Given the description of an element on the screen output the (x, y) to click on. 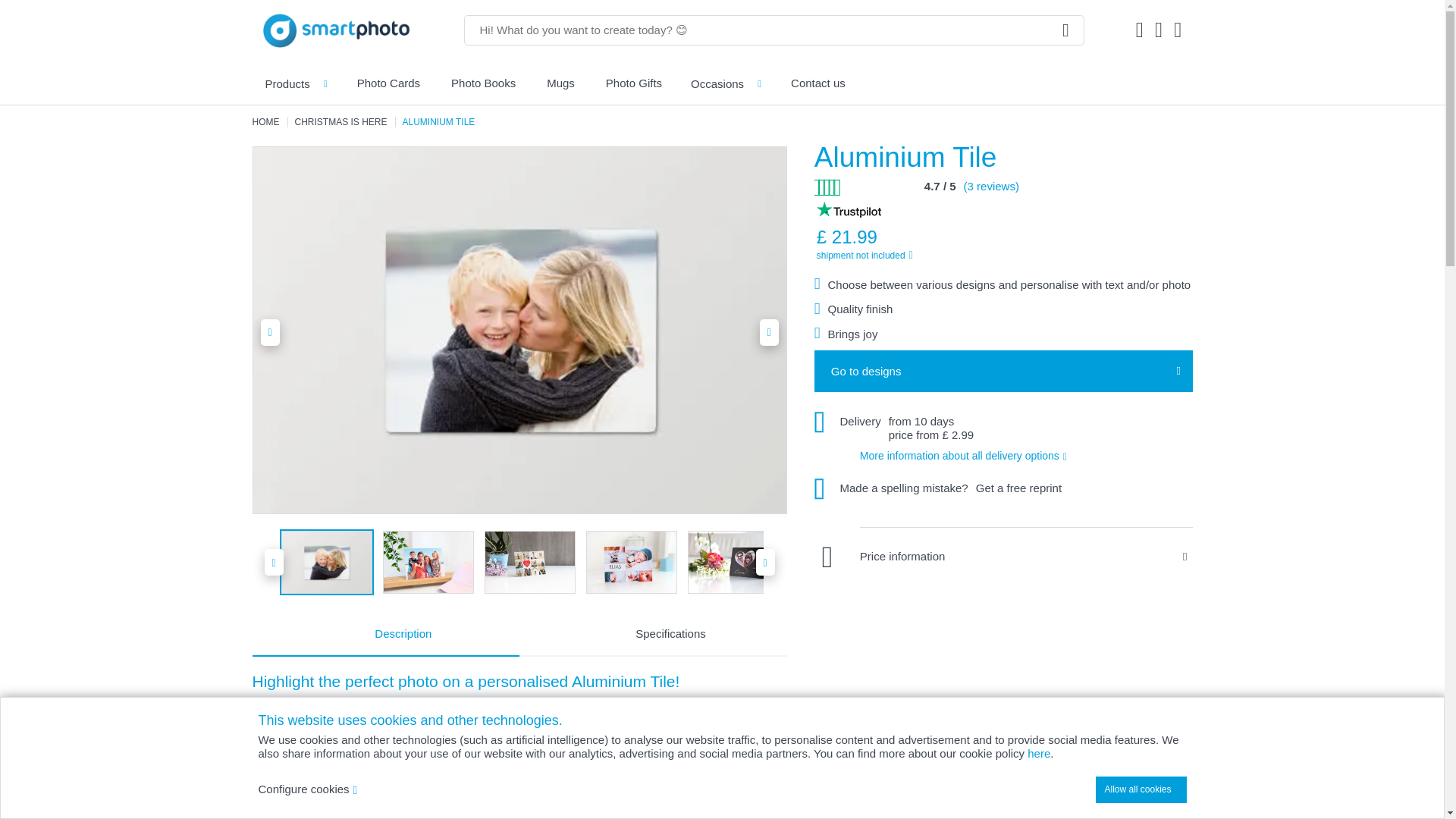
HOME (265, 122)
Aluminium Tile (428, 561)
Home (265, 122)
Go to designs (1002, 371)
Photo Books (483, 83)
Mugs (560, 83)
Aluminium Tile (529, 561)
search (1066, 30)
More information about all delivery options (970, 455)
here (1038, 753)
shipment not included (947, 254)
Photo Cards (387, 83)
Configure cookies (306, 789)
Aluminium Tile (631, 561)
